Given the description of an element on the screen output the (x, y) to click on. 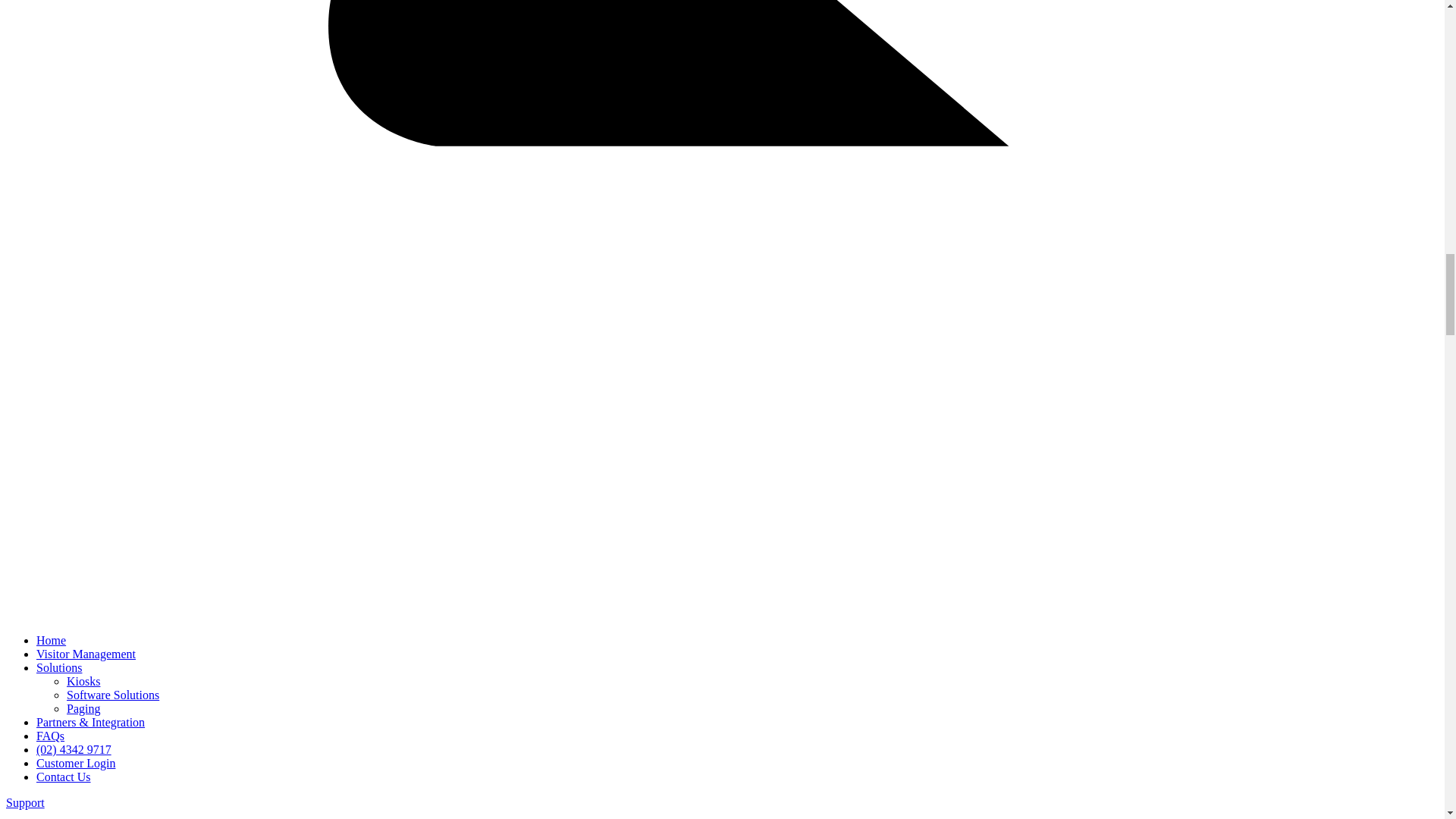
Support (25, 802)
